Given the description of an element on the screen output the (x, y) to click on. 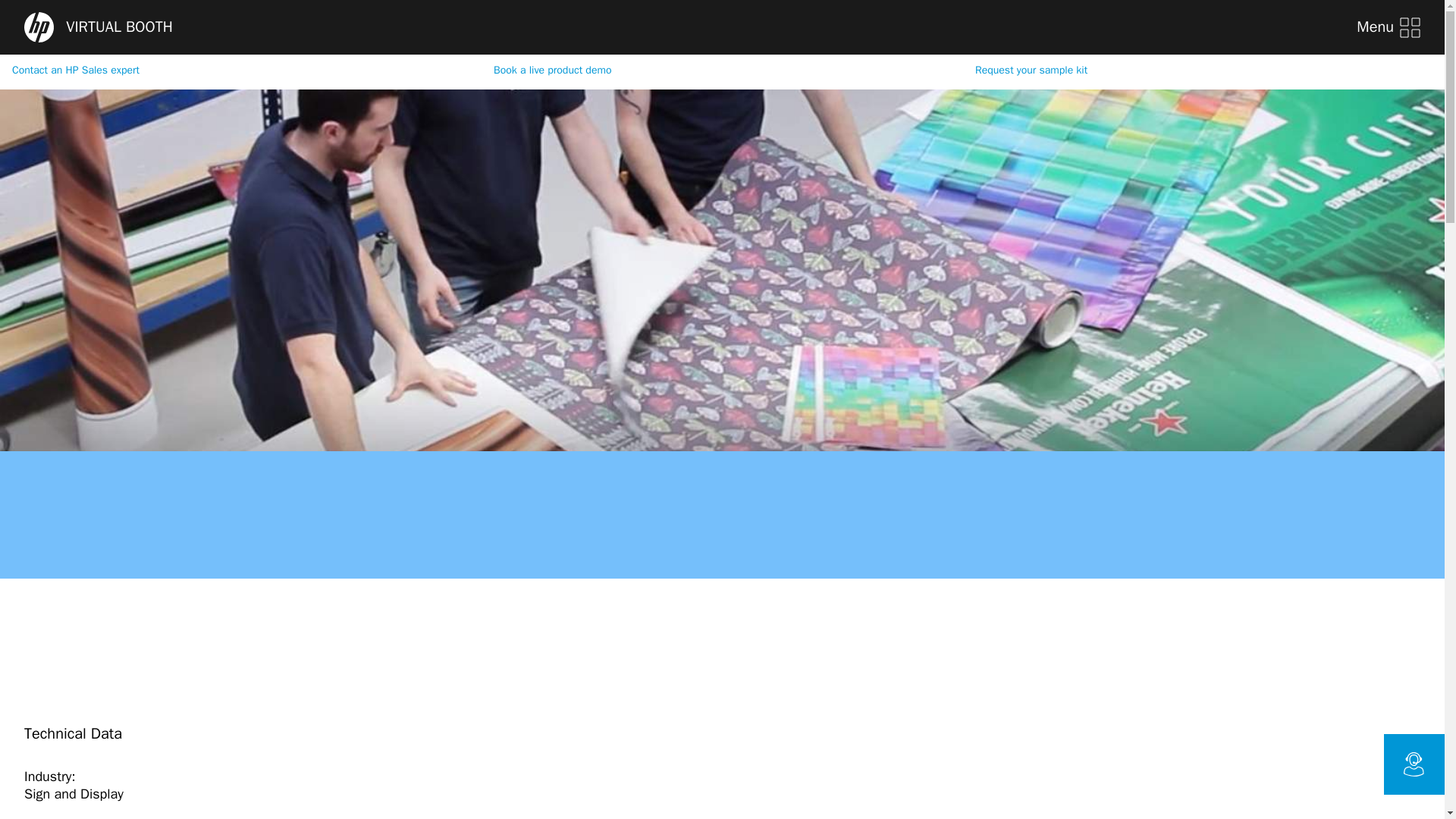
Contact an HP Sales expert (234, 69)
Contact an HP Sales expert (234, 69)
Webinars (216, 17)
Workflow Solutions (657, 17)
Product videos (435, 17)
Webinars (216, 17)
Customer Stories (316, 17)
Demo videos (539, 17)
Blog (38, 17)
3D Virtual Booth (119, 17)
3D Virtual Booth (119, 17)
Book a live product demo (715, 69)
Customer Stories (316, 17)
Demo videos (539, 17)
Product videos (435, 17)
